Given the description of an element on the screen output the (x, y) to click on. 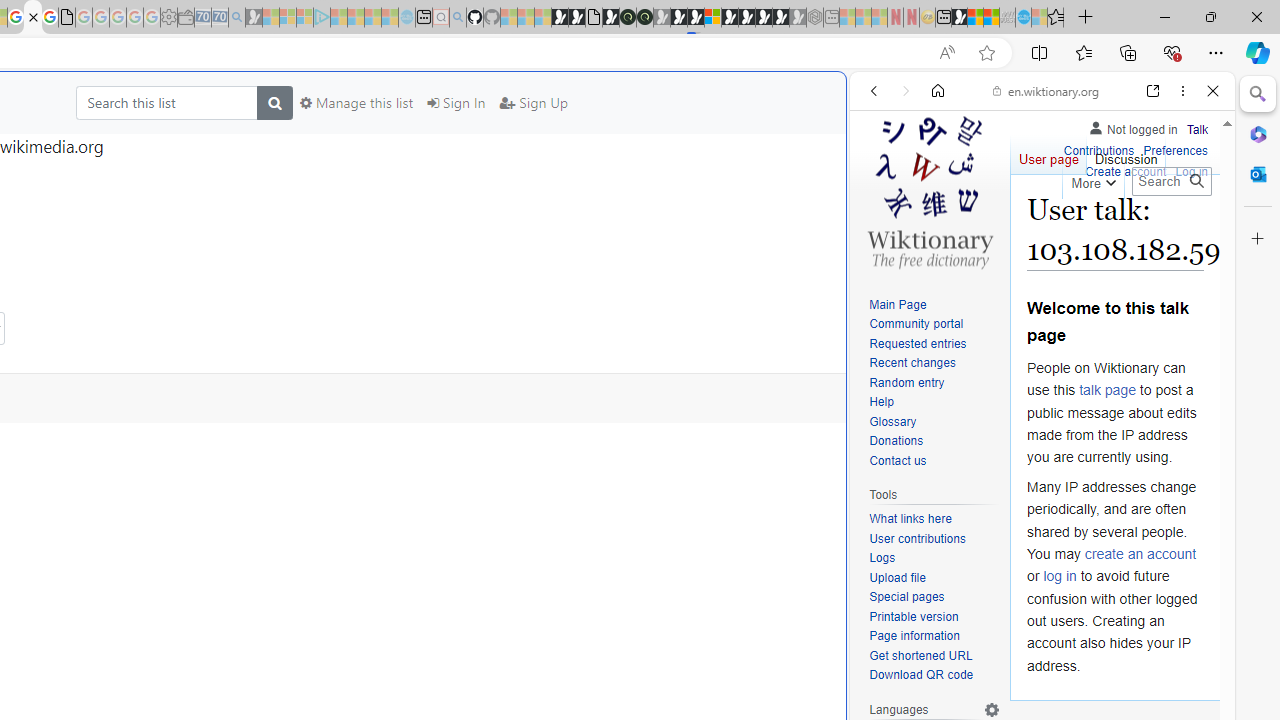
Printable version (934, 616)
Special pages (934, 597)
Recent changes (912, 362)
Log in (1191, 172)
